Given the description of an element on the screen output the (x, y) to click on. 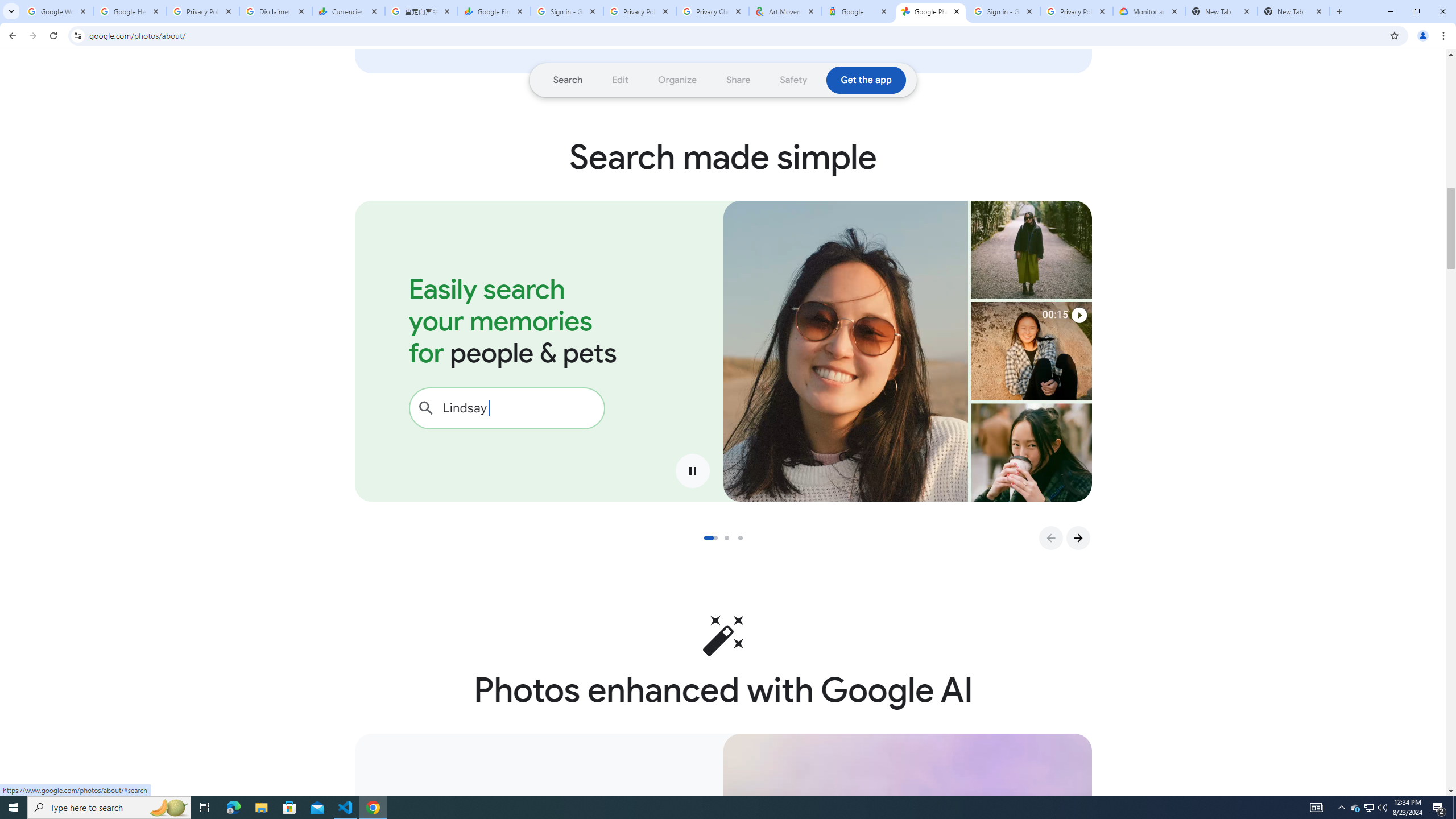
Go to section: Share (737, 80)
Go to slide 2 (730, 537)
Pause (692, 470)
Go to section: Safety (793, 80)
